Given the description of an element on the screen output the (x, y) to click on. 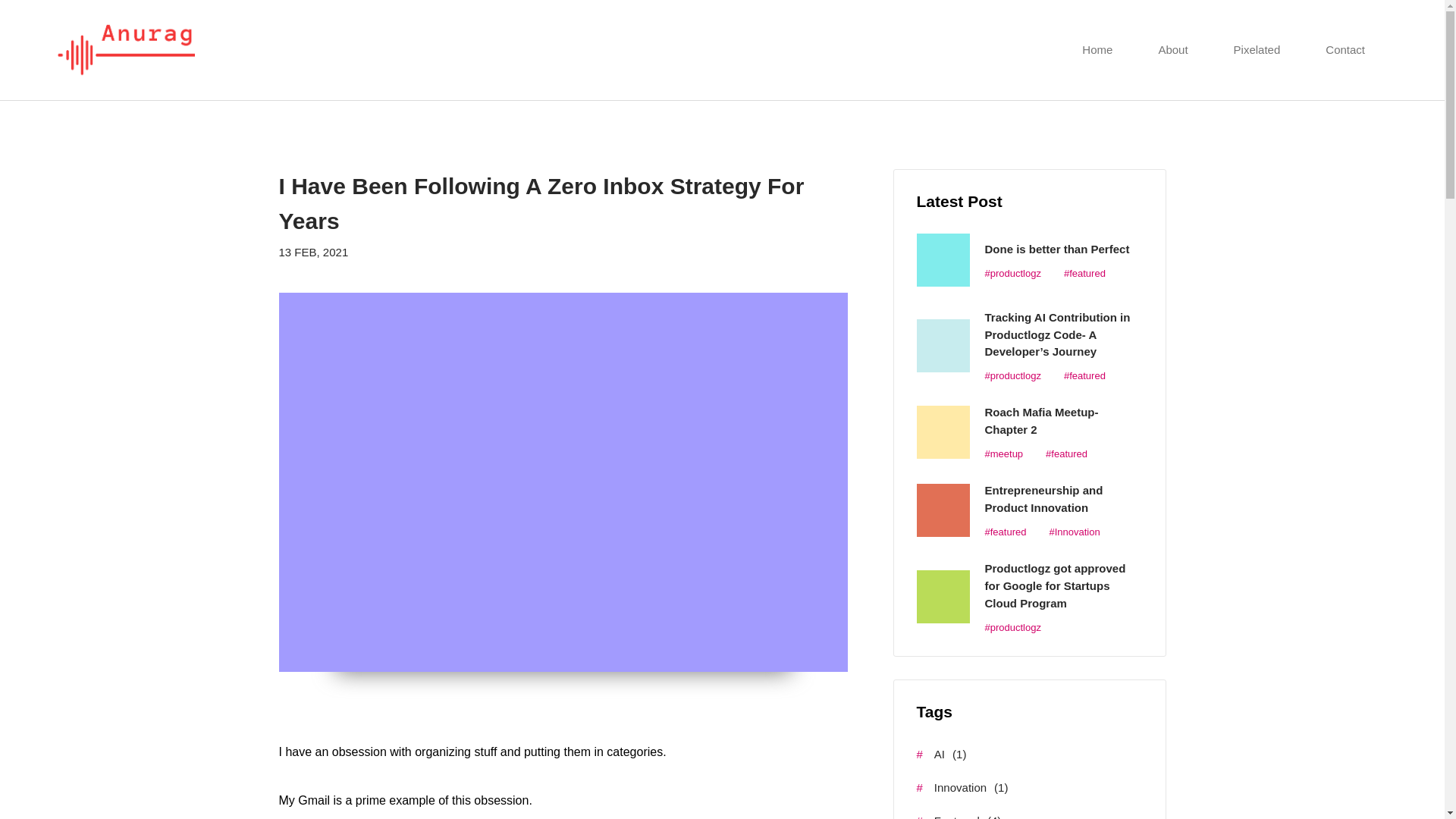
Home (1096, 49)
About (1172, 49)
Entrepreneurship and Product Innovation (1043, 499)
Done is better than Perfect (1056, 248)
Contact (1345, 49)
Roach Mafia Meetup- Chapter 2 (1040, 420)
Pixelated (1256, 49)
